Given the description of an element on the screen output the (x, y) to click on. 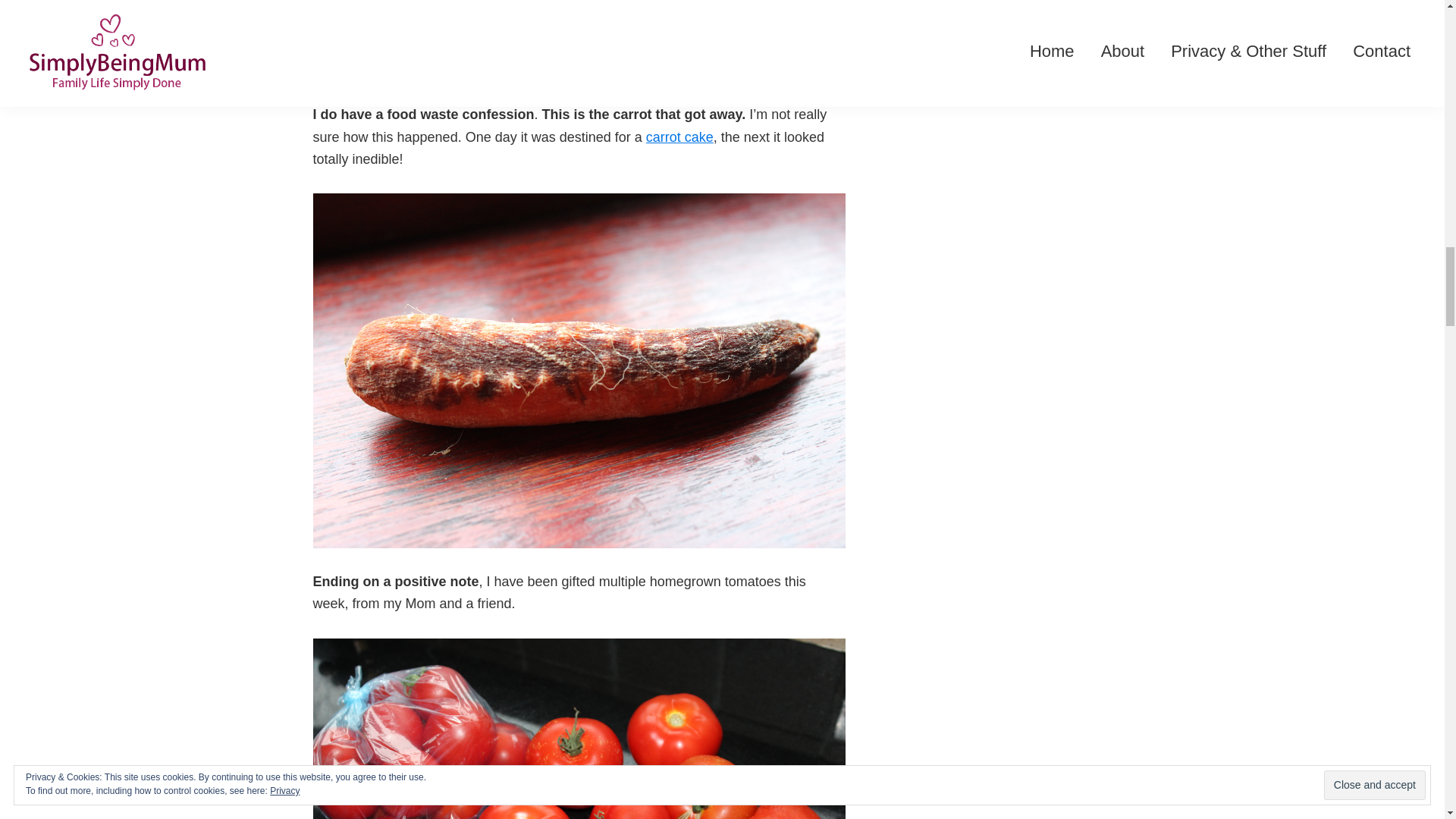
carrot cake (679, 136)
